Given the description of an element on the screen output the (x, y) to click on. 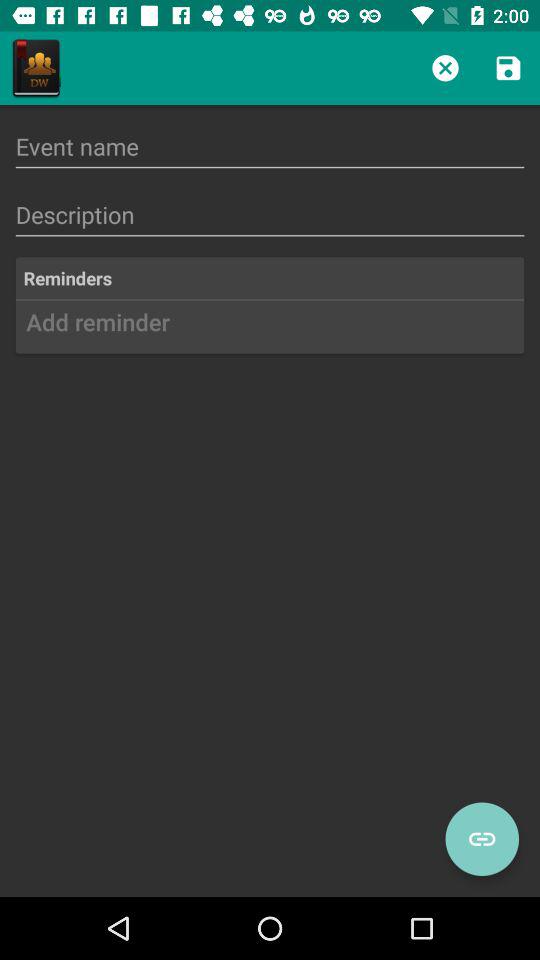
choose icon below the reminders item (269, 329)
